Given the description of an element on the screen output the (x, y) to click on. 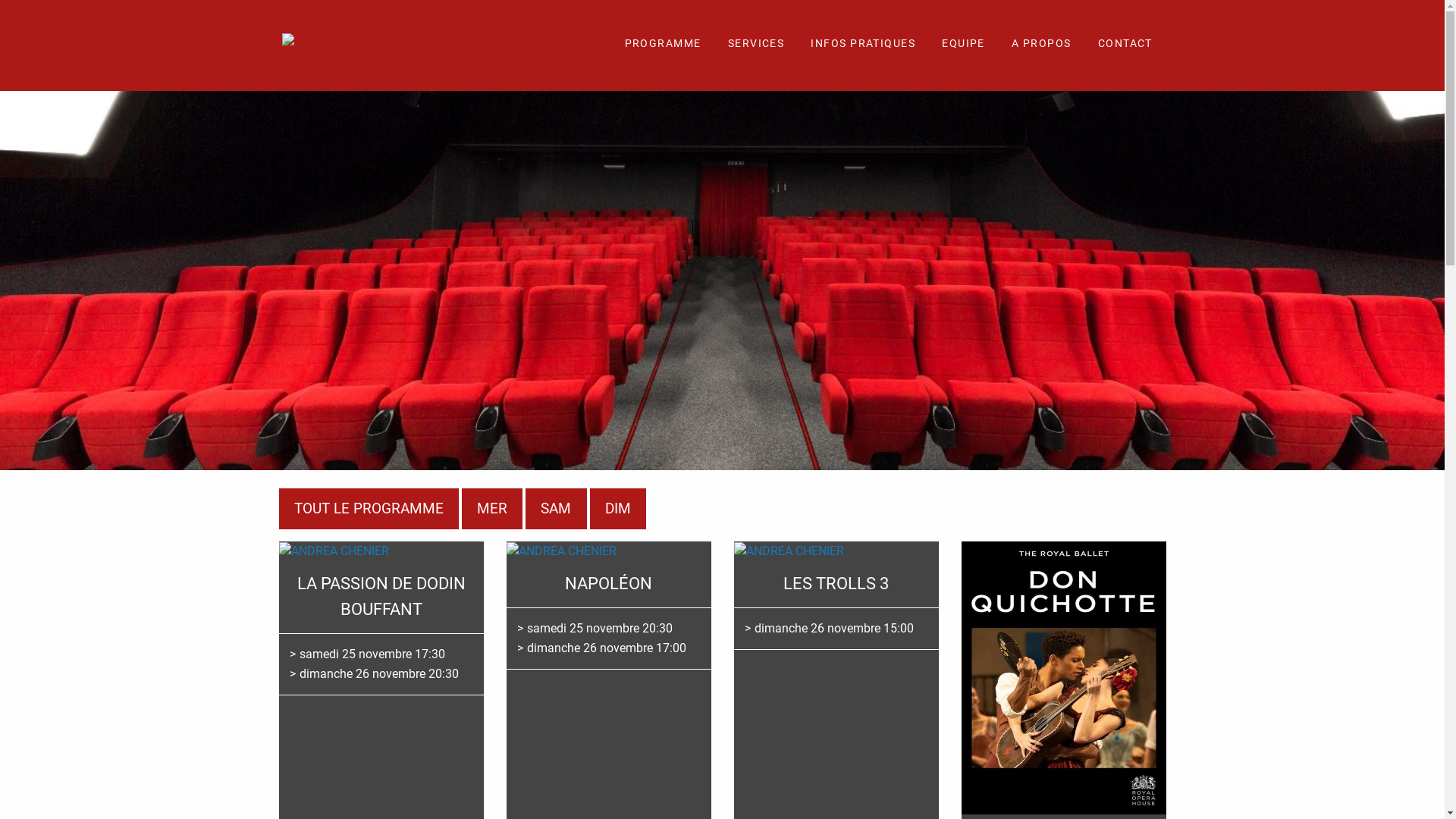
SERVICES Element type: text (756, 45)
DIM Element type: text (617, 508)
A PROPOS Element type: text (1041, 45)
TOUT LE PROGRAMME Element type: text (368, 508)
Dia suivant Element type: text (12, 280)
MER Element type: text (491, 508)
PROGRAMME Element type: text (662, 45)
INFOS PRATIQUES Element type: text (862, 45)
EQUIPE Element type: text (963, 45)
CONTACT Element type: text (1124, 45)
SAM Element type: text (555, 508)
